Given the description of an element on the screen output the (x, y) to click on. 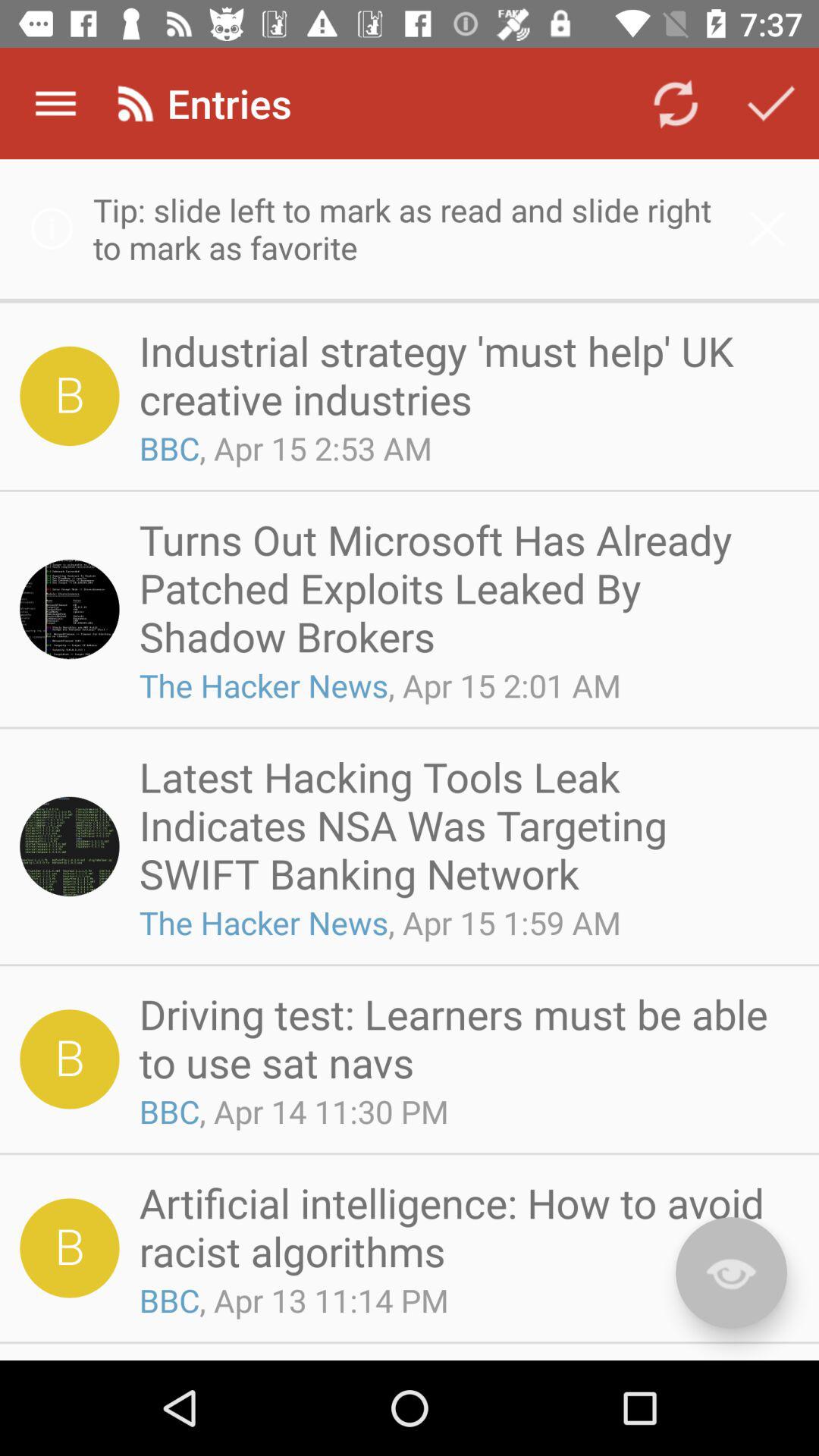
click icon next to the entries (675, 103)
